Given the description of an element on the screen output the (x, y) to click on. 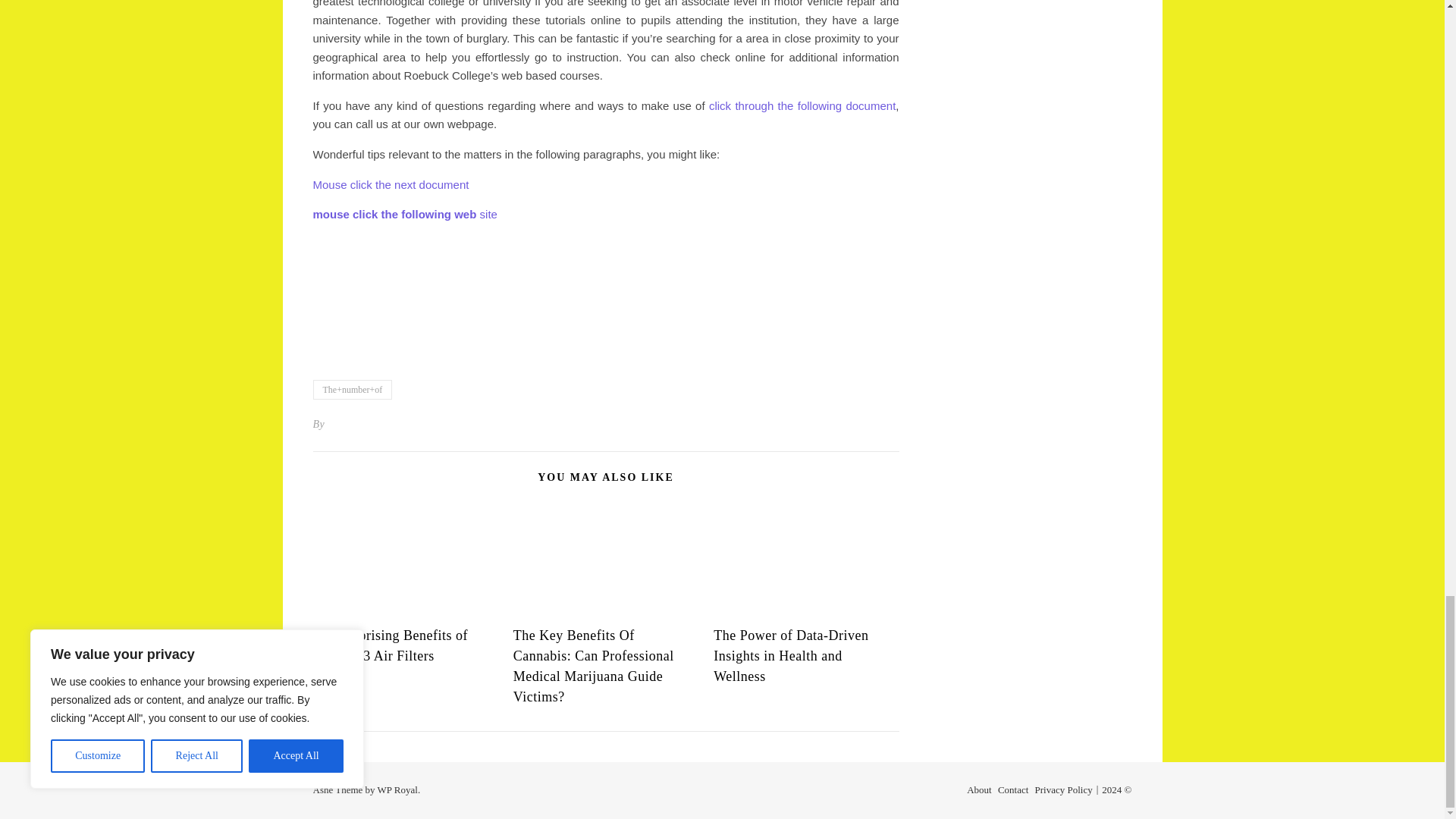
The Surprising Benefits of MERV 13 Air Filters (390, 645)
click through the following document (802, 105)
Mouse click the next document (390, 184)
The Power of Data-Driven Insights in Health and Wellness (790, 655)
mouse click the following web site (404, 214)
